Given the description of an element on the screen output the (x, y) to click on. 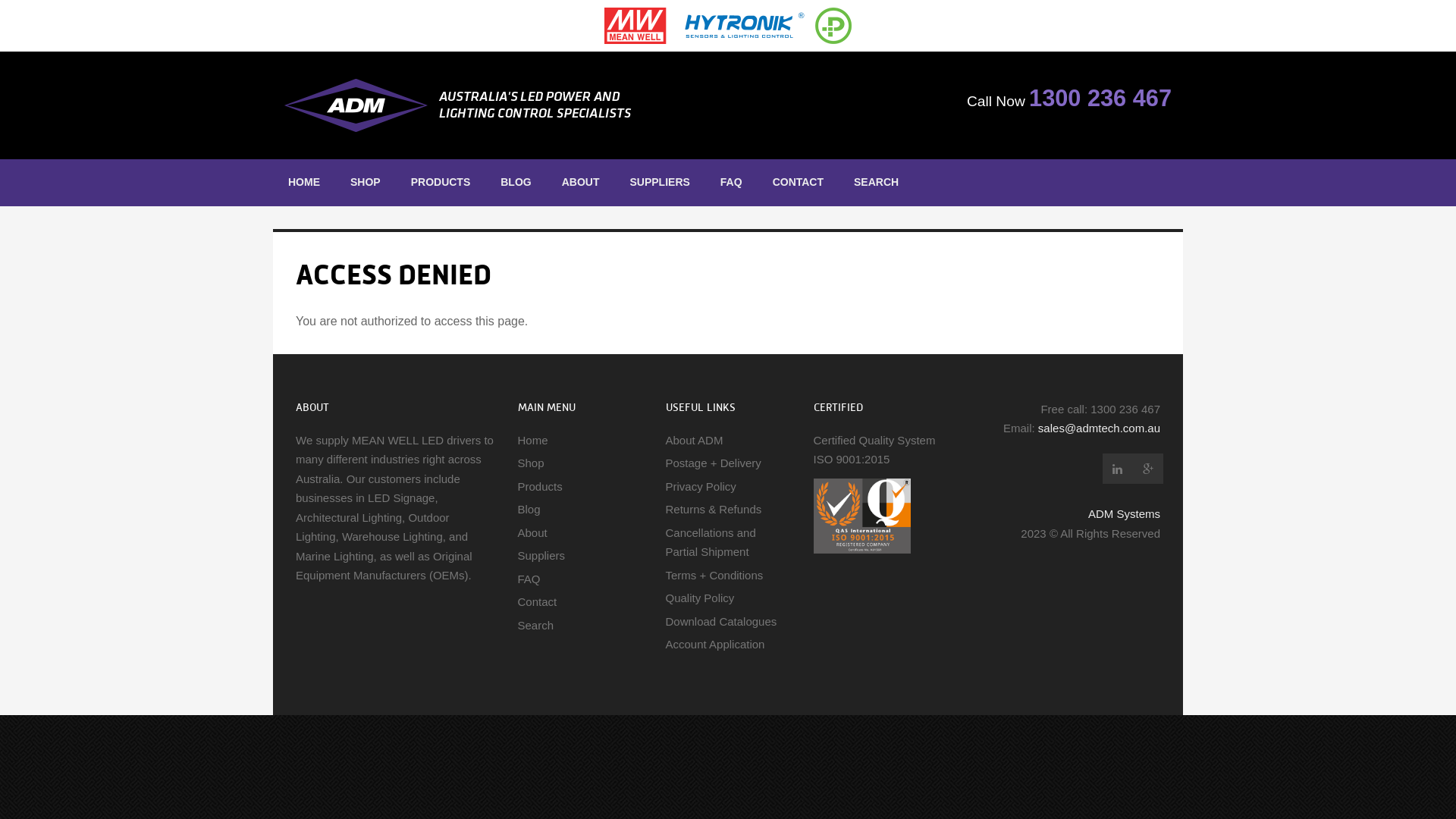
Terms + Conditions Element type: text (714, 574)
Certified Quality System
ISO 9001:2015 Element type: text (873, 449)
Search Element type: text (535, 624)
Blog Element type: text (528, 508)
ADM Systems Element type: text (1124, 513)
ADM Instrument Engineering LinkedIn Element type: hover (1117, 468)
FAQ Element type: text (528, 578)
Products Element type: text (539, 486)
1300 236 467 Element type: text (1100, 97)
MEAN WELL - Hytronic - Power Source Element type: hover (727, 25)
Privacy Policy Element type: text (700, 486)
HOME Element type: text (304, 182)
ABOUT Element type: text (580, 182)
Postage + Delivery Element type: text (713, 462)
BLOG Element type: text (515, 182)
FAQ Element type: text (731, 182)
SHOP Element type: text (365, 182)
Returns & Refunds Element type: text (713, 508)
Home Element type: text (532, 439)
Quality Policy Element type: text (699, 597)
About ADM Element type: text (694, 439)
ADM Instrument Engineering Google Plus Element type: hover (1147, 468)
CONTACT Element type: text (797, 182)
Cancellations and Partial Shipment Element type: text (710, 542)
SUPPLIERS Element type: text (659, 182)
Shop Element type: text (530, 462)
Skip to main content Element type: text (54, 0)
Contact Element type: text (536, 601)
Account Application Element type: text (715, 643)
Back to home Element type: hover (500, 104)
Download Catalogues Element type: text (721, 621)
About Element type: text (531, 532)
PRODUCTS Element type: text (440, 182)
SEARCH Element type: text (875, 182)
sales@admtech.com.au Element type: text (1099, 427)
Suppliers Element type: text (540, 555)
